Given the description of an element on the screen output the (x, y) to click on. 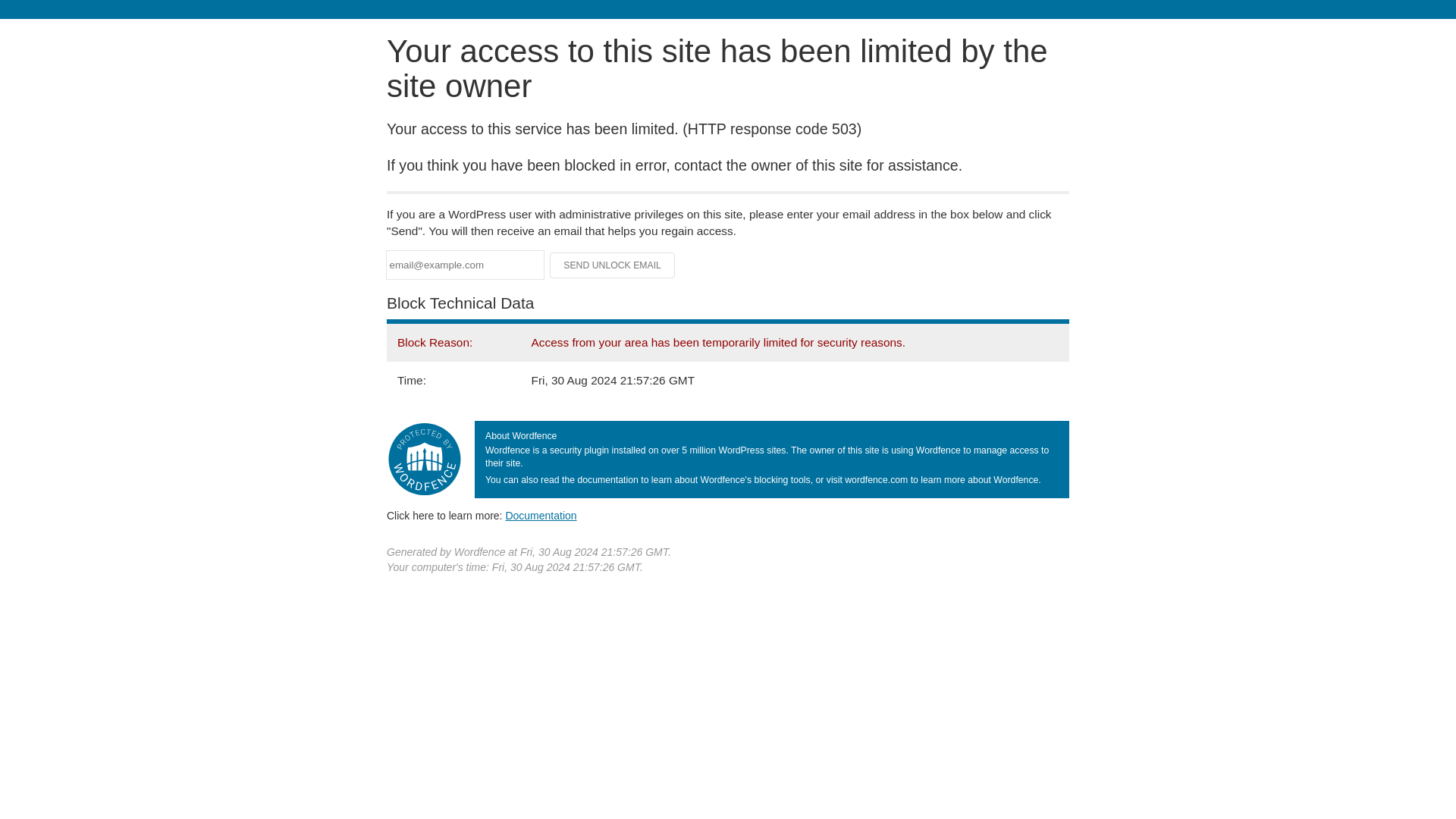
Send Unlock Email (612, 265)
Documentation (540, 515)
Send Unlock Email (612, 265)
